Given the description of an element on the screen output the (x, y) to click on. 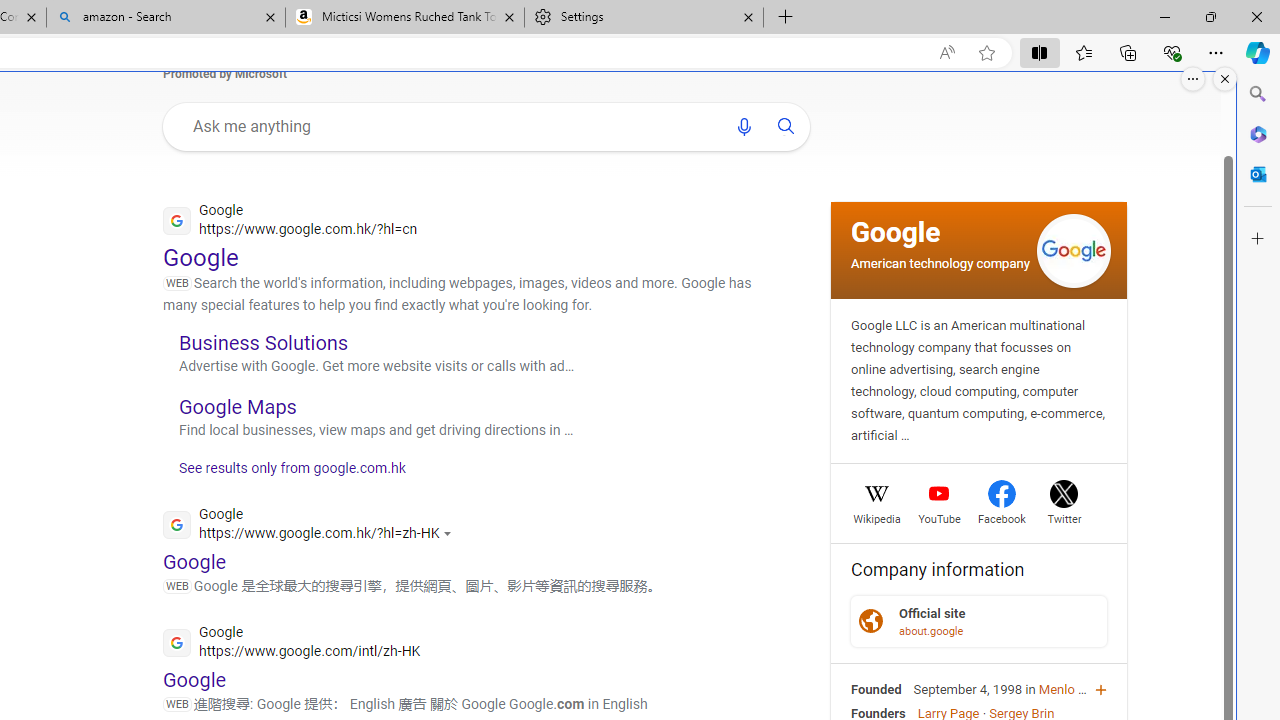
amazon - Search (166, 17)
Google (895, 231)
Official siteabout.google (979, 620)
